Given the description of an element on the screen output the (x, y) to click on. 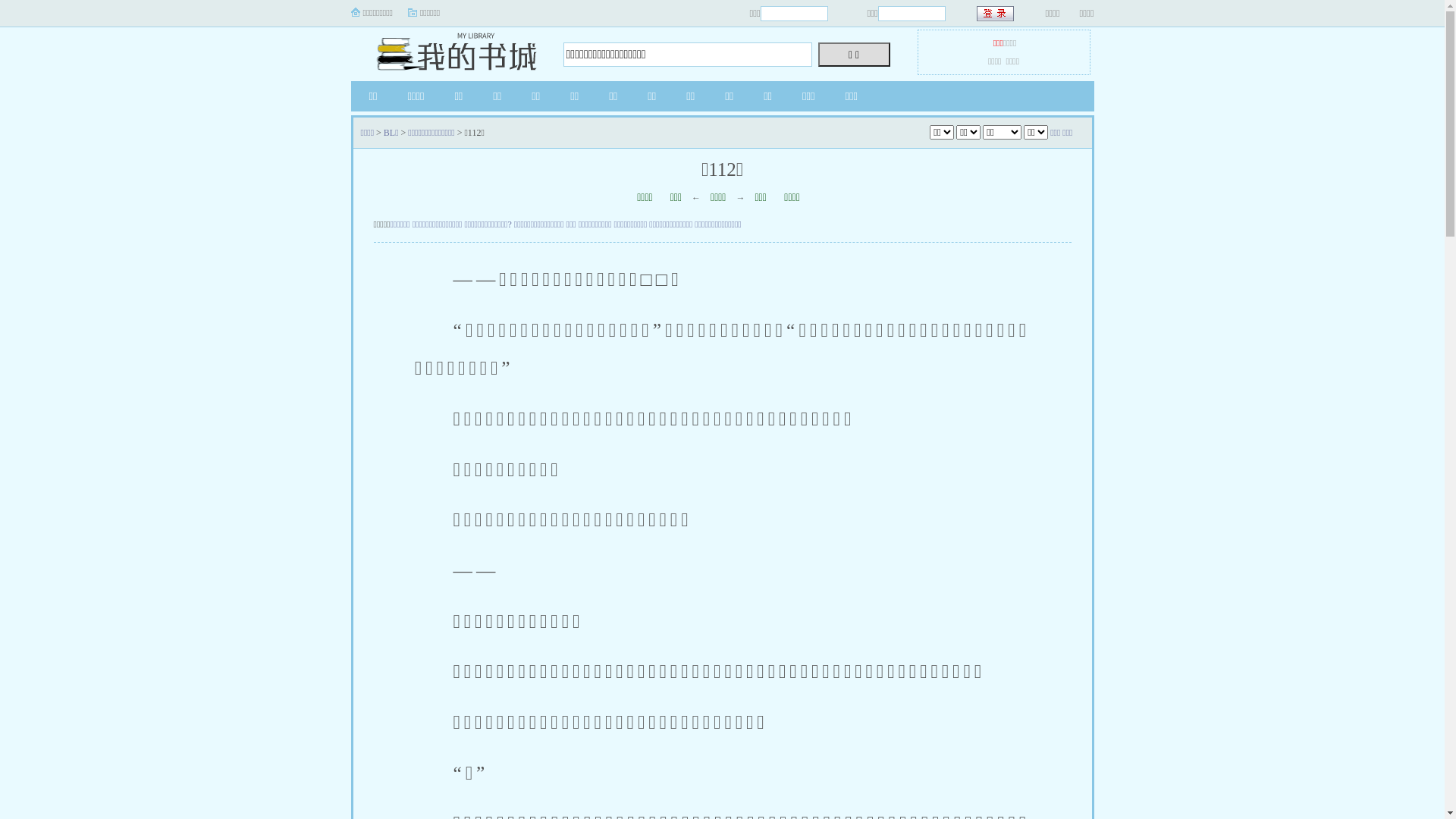
  Element type: text (995, 13)
